Given the description of an element on the screen output the (x, y) to click on. 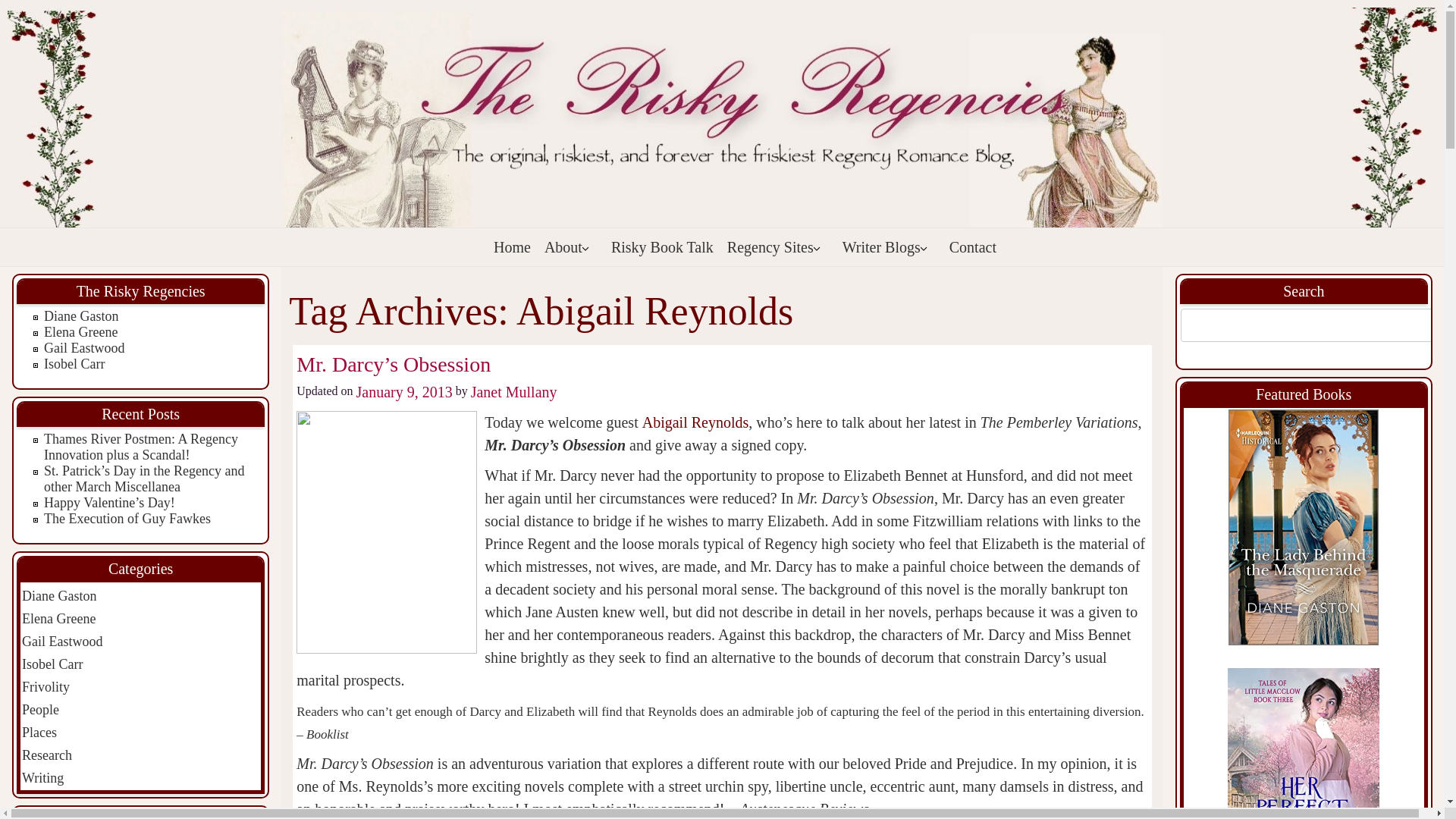
Risky Book Talk (662, 247)
Diane Gaston (80, 315)
Thames River Postmen: A Regency Innovation plus a Scandal! (140, 446)
Elena Greene (80, 331)
View all posts by Janet Mullany (513, 392)
Isobel Carr (73, 363)
About (570, 247)
Gail Eastwood (83, 347)
Contact (972, 247)
Regency Sites (777, 247)
